Given the description of an element on the screen output the (x, y) to click on. 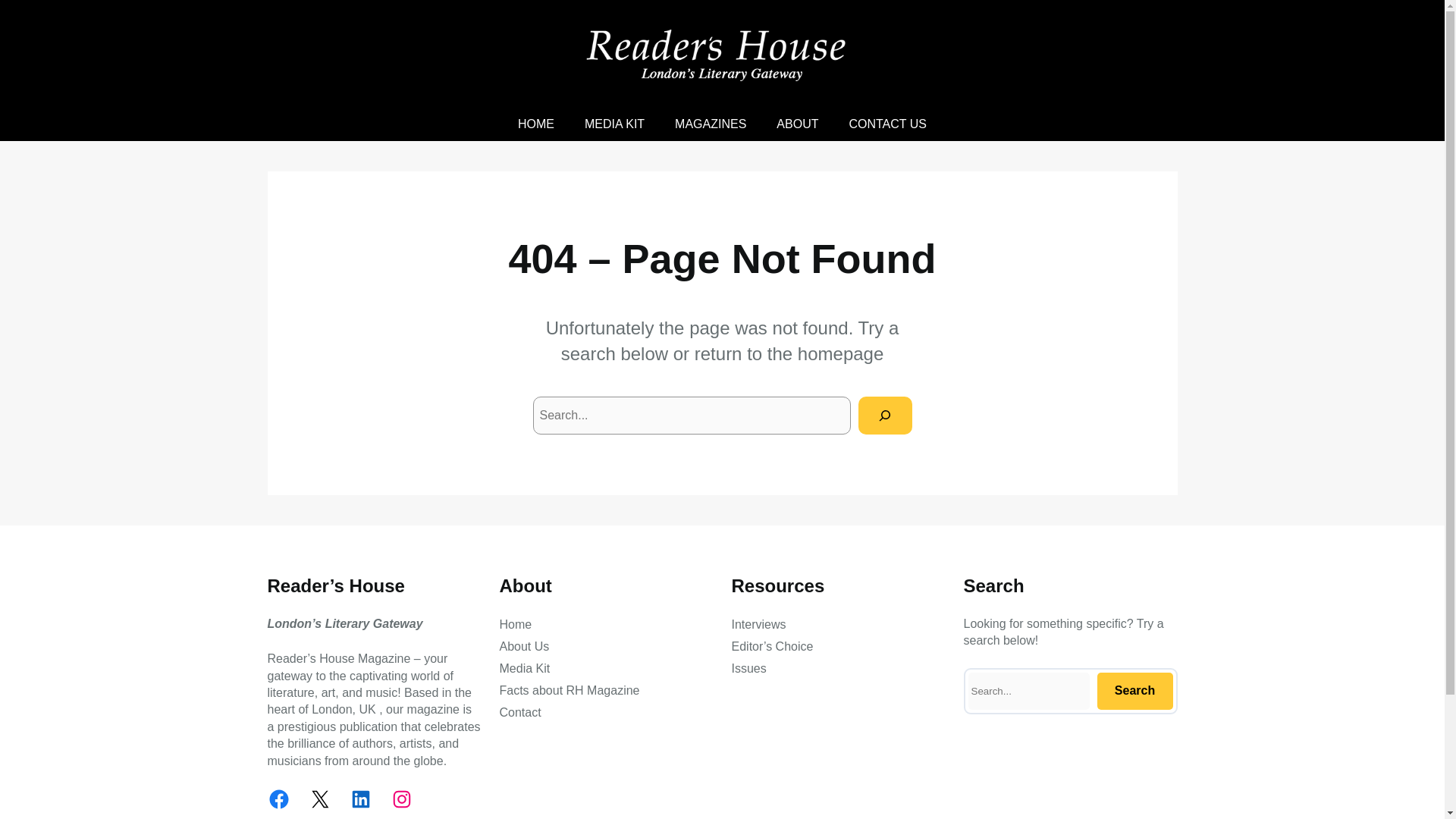
MAGAZINES (710, 124)
CONTACT US (887, 124)
Interviews (758, 624)
Contact (519, 712)
About Us (523, 647)
Search (1134, 691)
Instagram (401, 798)
LinkedIn (360, 798)
MEDIA KIT (615, 124)
Issues (747, 669)
